Given the description of an element on the screen output the (x, y) to click on. 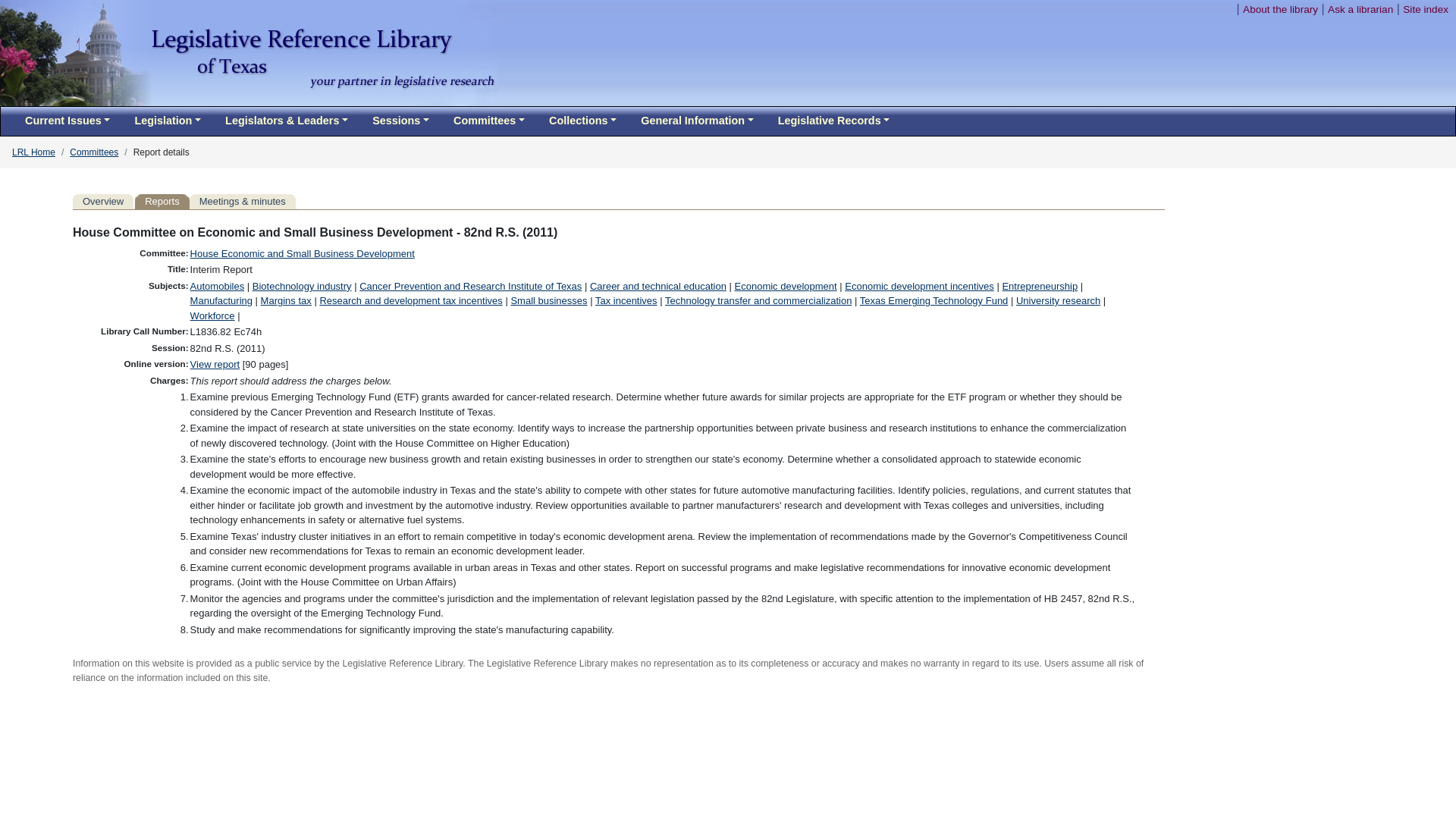
Other reports addressing: Economic development incentives (919, 285)
Other reports addressing: Texas Emerging Technology Fund (934, 300)
Other reports addressing: Manufacturing (220, 300)
Site index (1425, 9)
Other reports addressing: University research (1058, 300)
Other reports addressing: Automobiles (217, 285)
Other reports addressing: Margins tax (285, 300)
Other reports addressing: Career and technical education (657, 285)
Other reports addressing: Entrepreneurship (1039, 285)
Other reports addressing: Tax incentives (626, 300)
Current Issues (67, 121)
Other reports addressing: Biotechnology industry (301, 285)
Legislation (167, 121)
Skip to main content (1177, 8)
Other reports addressing: Workforce (212, 315)
